Given the description of an element on the screen output the (x, y) to click on. 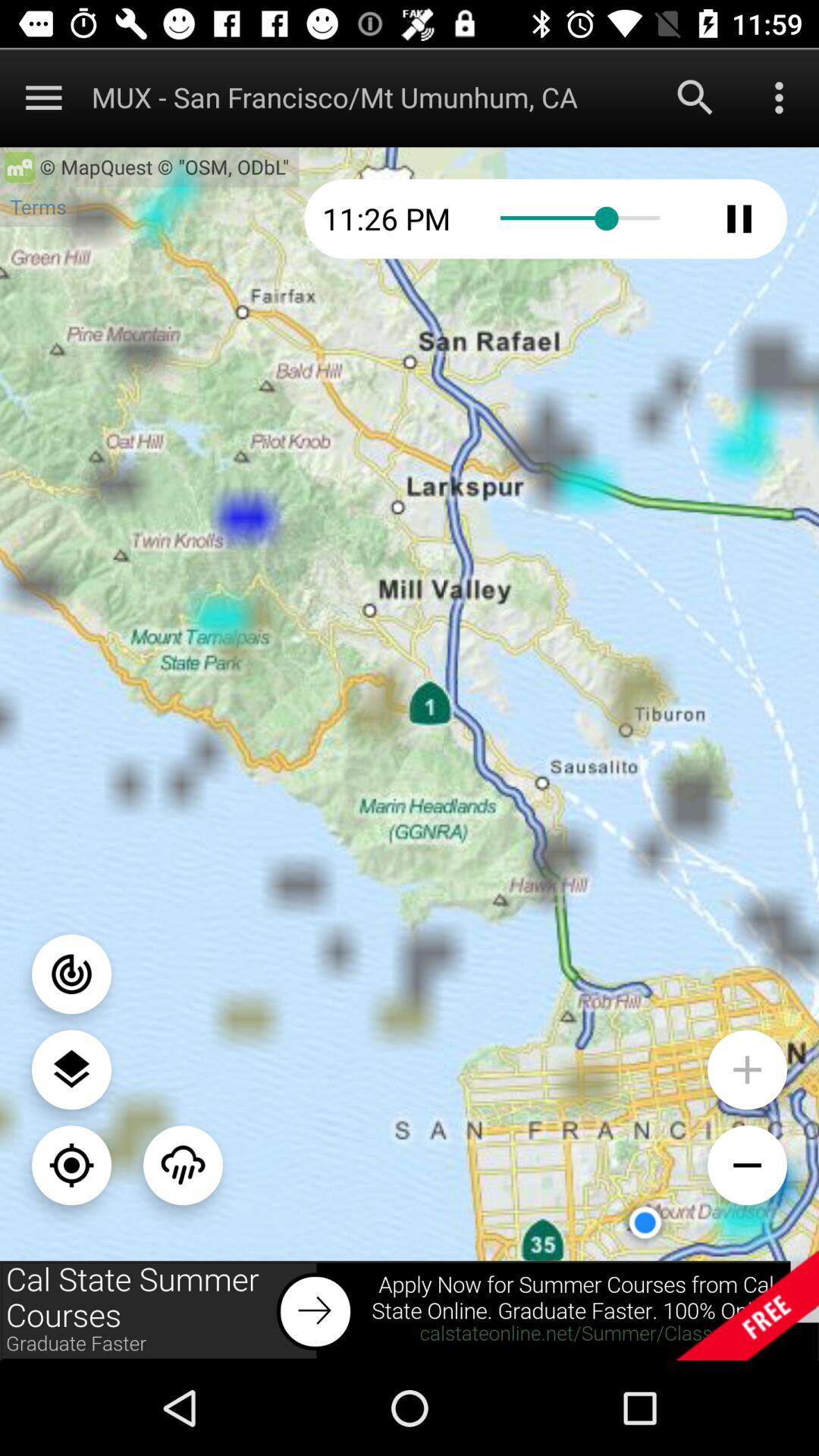
toggle weather information (182, 1165)
